Given the description of an element on the screen output the (x, y) to click on. 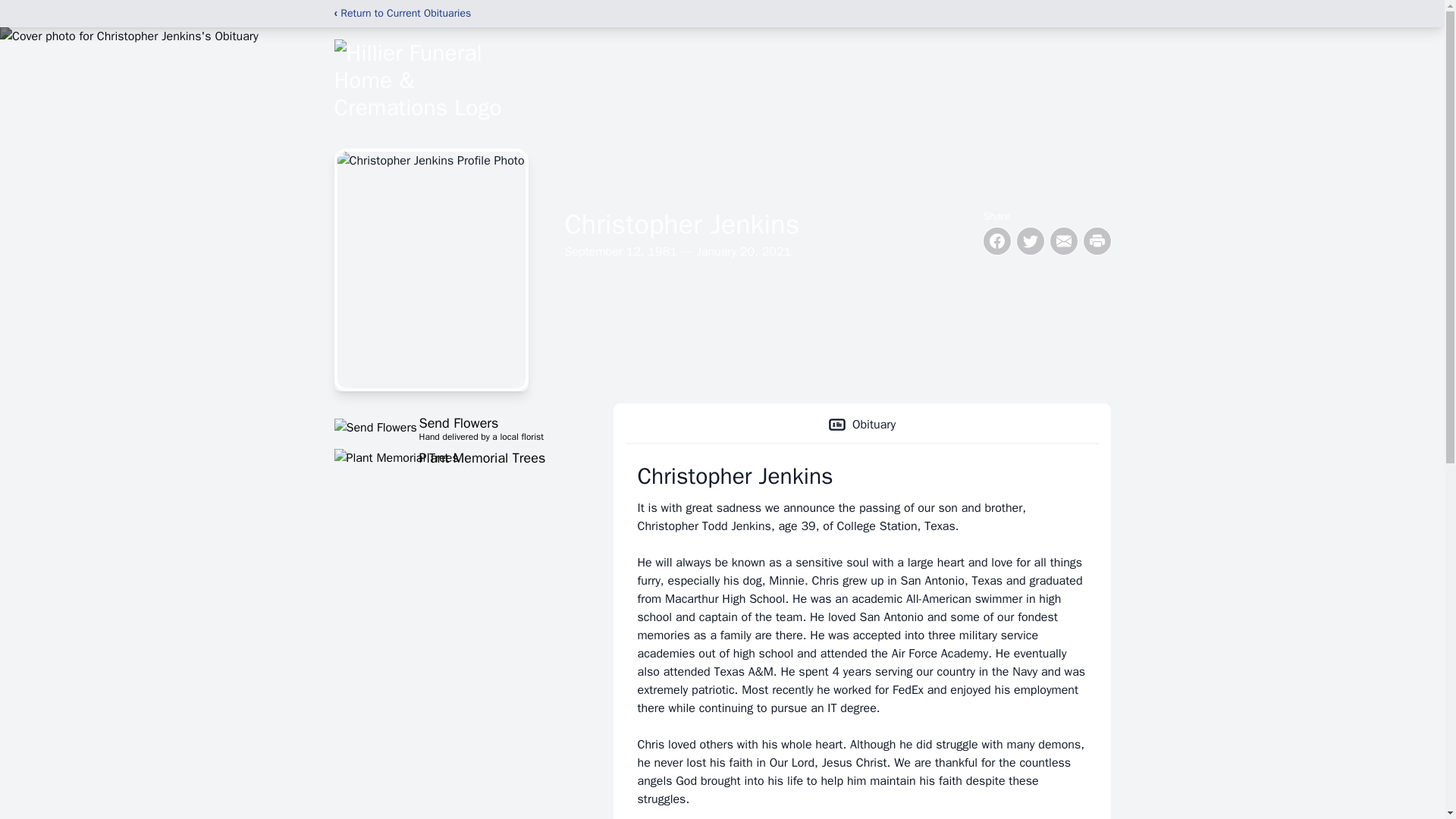
Obituary (860, 425)
Plant Memorial Trees (454, 457)
